Given the description of an element on the screen output the (x, y) to click on. 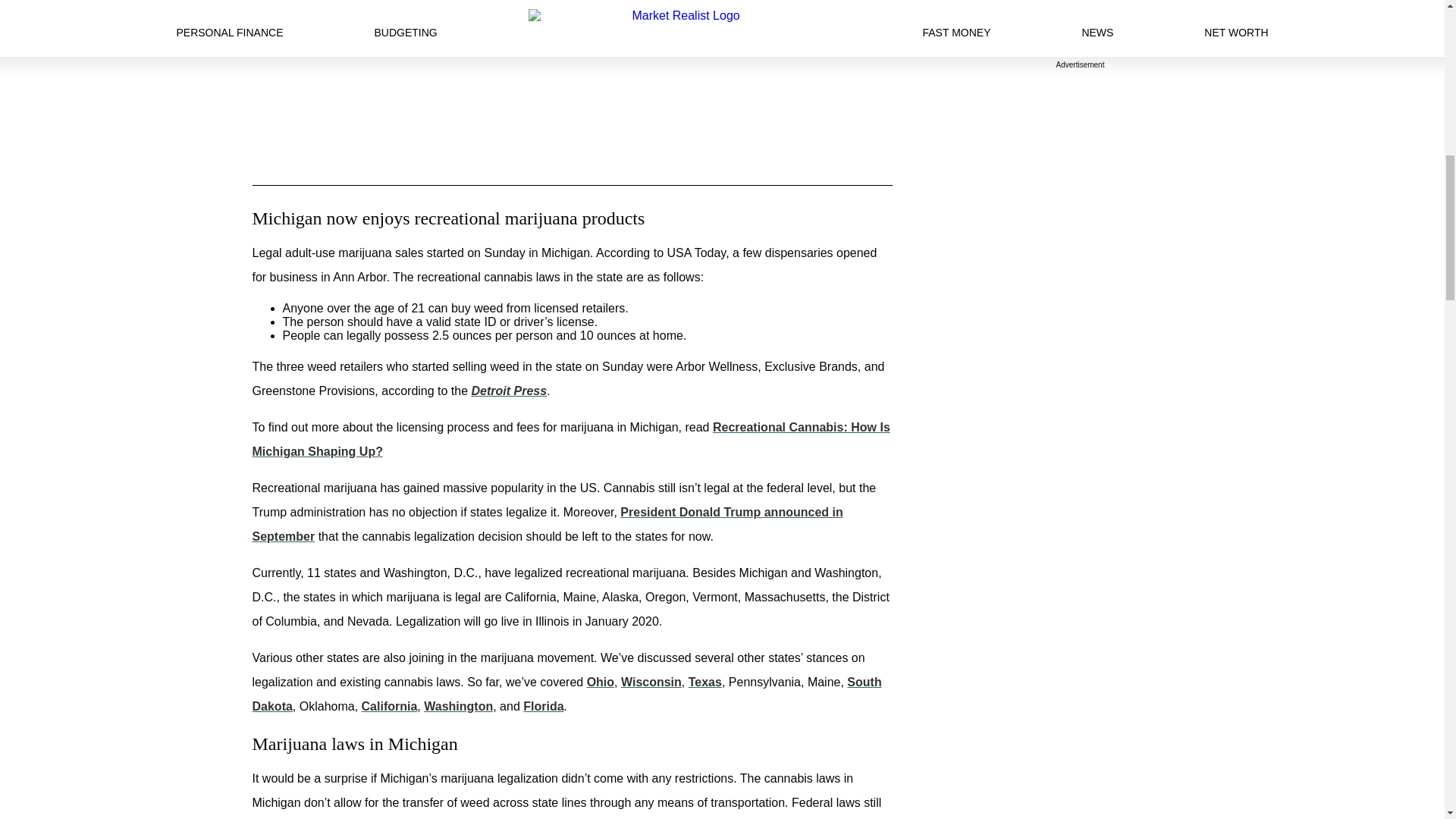
Florida (542, 706)
Detroit Press (509, 390)
South Dakota (565, 693)
President Donald Trump announced in September (547, 524)
California (389, 706)
Texas (705, 681)
Recreational Cannabis: How Is Michigan Shaping Up? (570, 438)
Ohio (600, 681)
Wisconsin (651, 681)
Washington (458, 706)
